Given the description of an element on the screen output the (x, y) to click on. 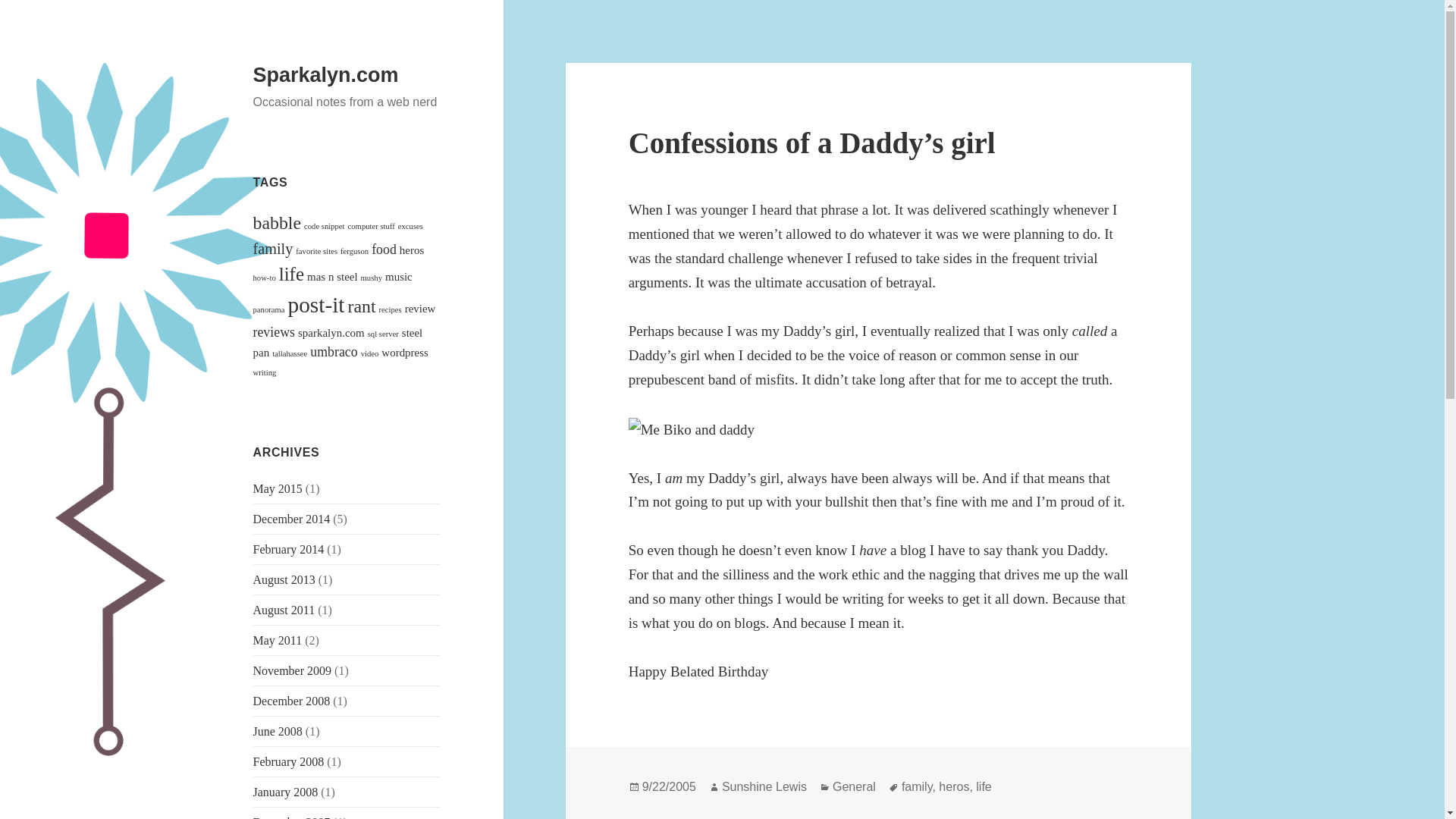
umbraco (333, 351)
August 2011 (284, 609)
favorite sites (316, 251)
sparkalyn.com (331, 332)
family (273, 248)
life (291, 273)
food (383, 249)
reviews (274, 331)
recipes (389, 309)
mas n steel (332, 276)
mushy (371, 277)
video (369, 353)
tallahassee (289, 353)
babble (277, 222)
code snippet (324, 225)
